Given the description of an element on the screen output the (x, y) to click on. 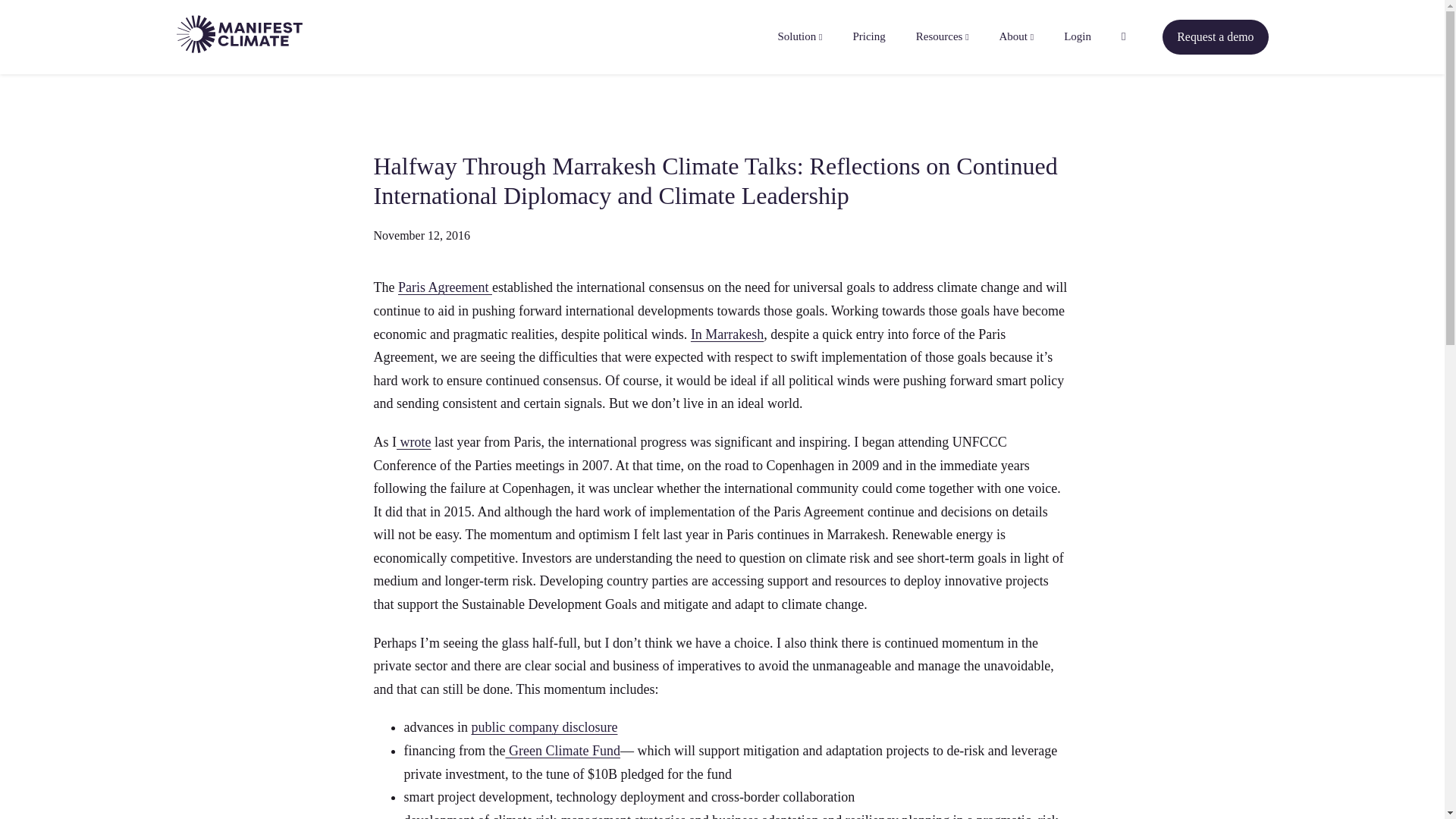
Solution (799, 36)
Pricing (868, 36)
Request a demo (1214, 36)
Resources (942, 36)
About (1016, 36)
Search Toggle (1123, 36)
Login (1077, 36)
